Given the description of an element on the screen output the (x, y) to click on. 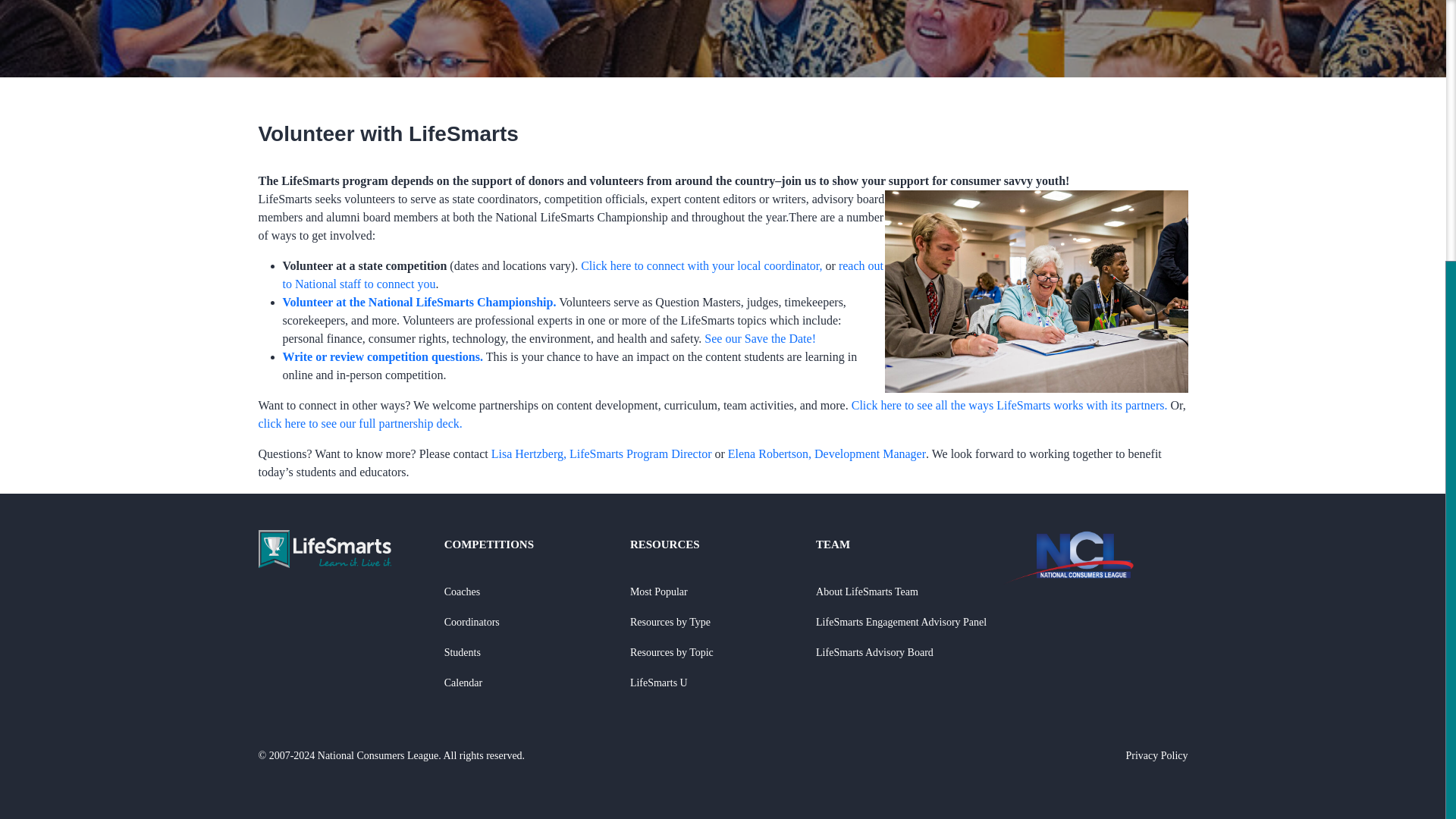
Lisa Hertzberg, LifeSmarts Program Director (603, 453)
click here to see our full partnership deck. (359, 422)
Elena Robertson, Development Manager (827, 453)
Click here to connect with your local coordinator, (701, 265)
Volunteer at the National LifeSmarts Championship. (419, 301)
Coaches (462, 591)
reach out to National staff to connect you (582, 274)
Coordinators (471, 622)
See our Save the Date! (759, 338)
Write or review competition questions. (381, 356)
